Given the description of an element on the screen output the (x, y) to click on. 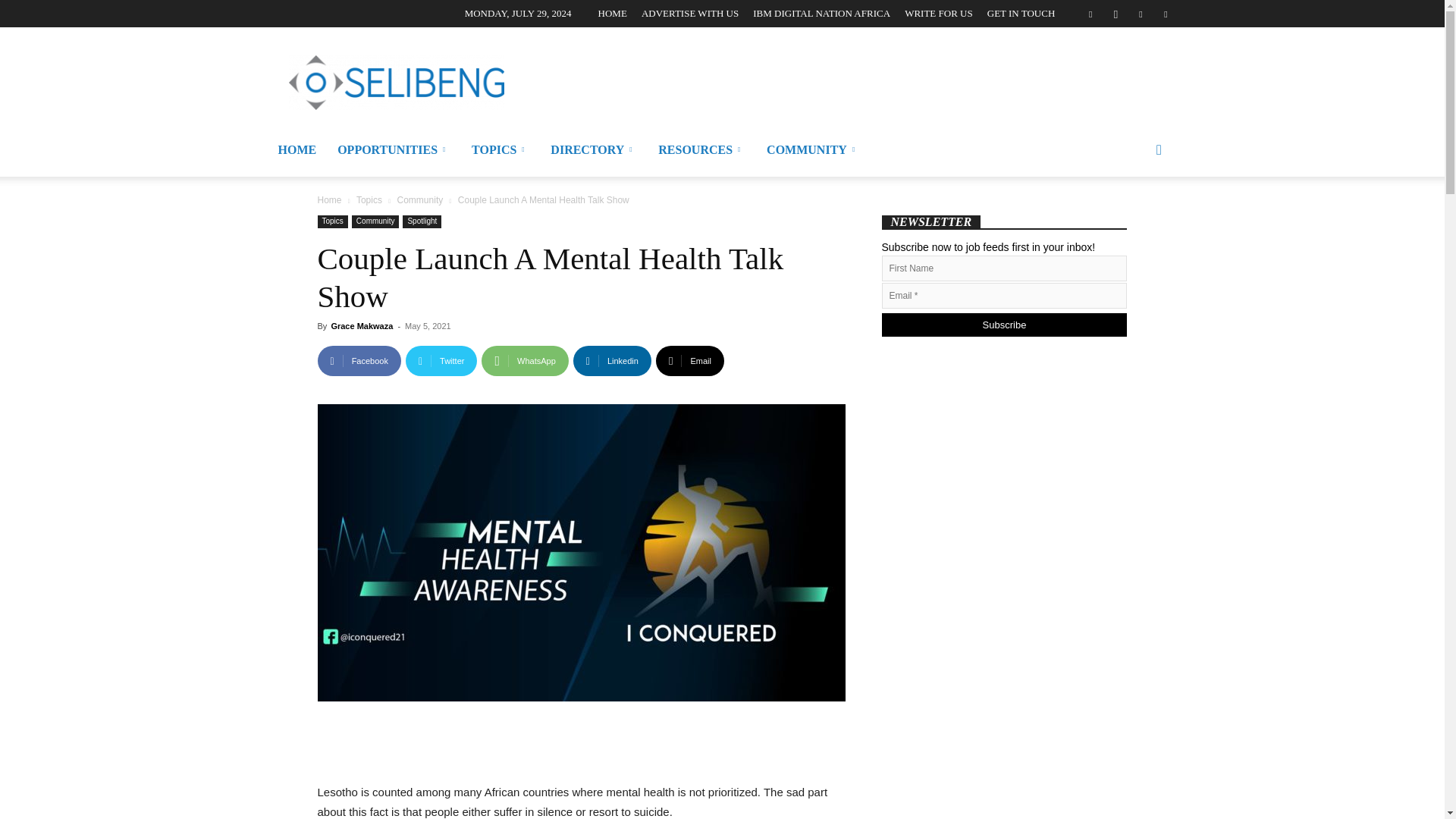
View all posts in Community (420, 199)
View all posts in Topics (368, 199)
Facebook (358, 360)
Subscribe (1003, 324)
Advertisement (800, 82)
